Given the description of an element on the screen output the (x, y) to click on. 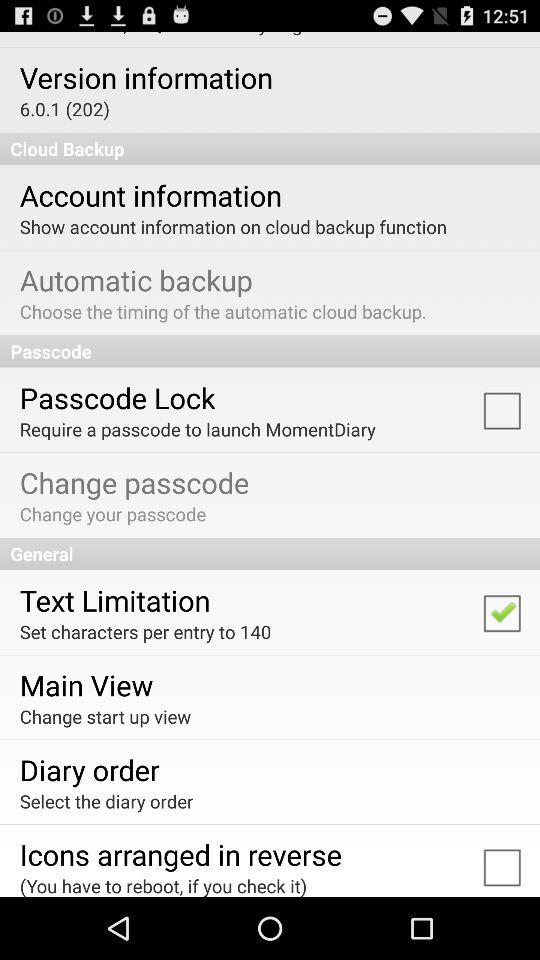
launch the general icon (270, 553)
